Given the description of an element on the screen output the (x, y) to click on. 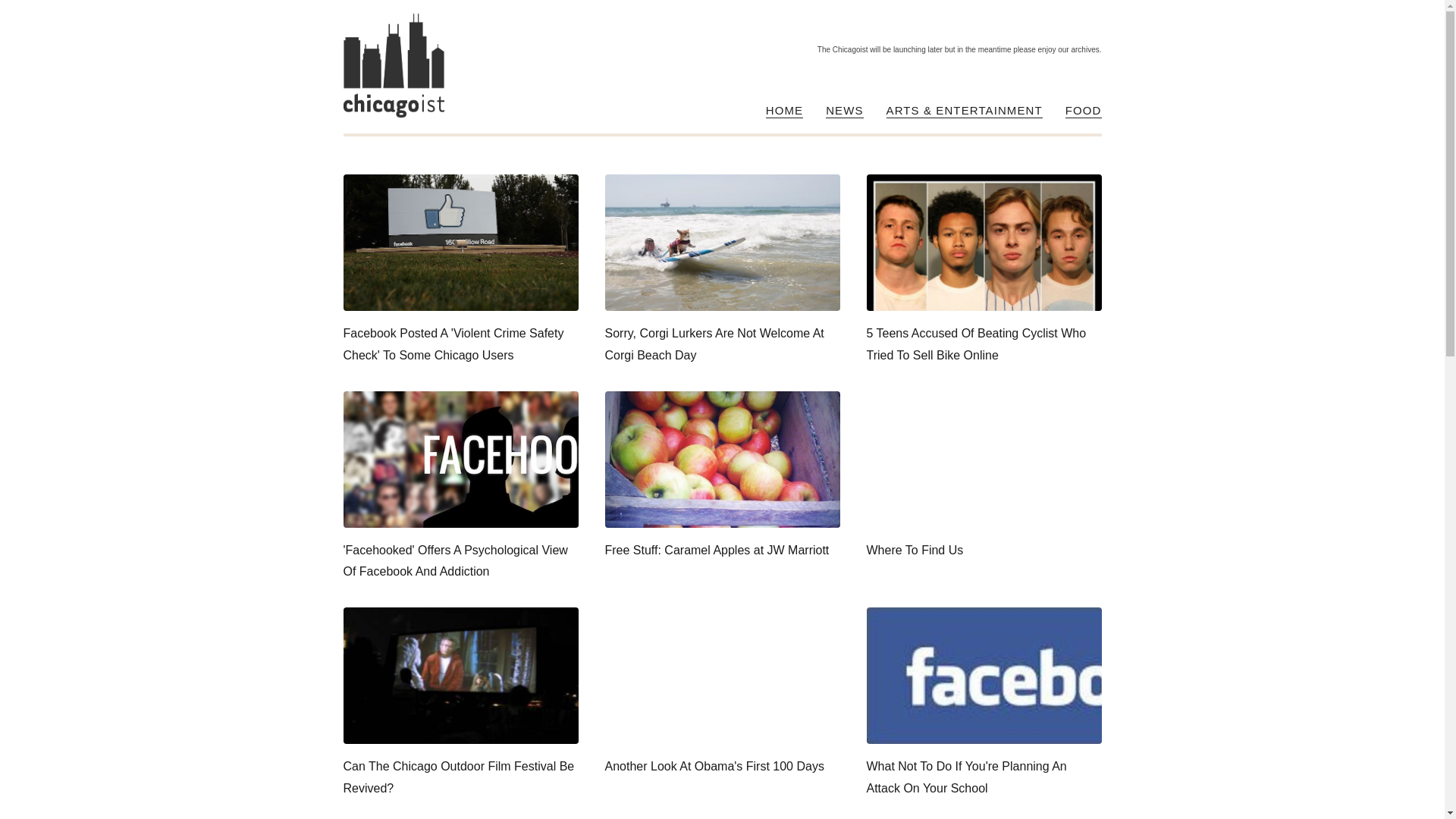
Another Look At Obama's First 100 Days (722, 692)
What Not To Do If You're Planning An Attack On Your School (983, 703)
NEWS (844, 110)
Free Stuff: Caramel Apples at JW Marriott (722, 476)
Sorry, Corgi Lurkers Are Not Welcome At Corgi Beach Day (722, 270)
Where To Find Us (983, 476)
HOME (784, 110)
Can The Chicago Outdoor Film Festival Be Revived? (460, 703)
FOOD (1083, 110)
